Given the description of an element on the screen output the (x, y) to click on. 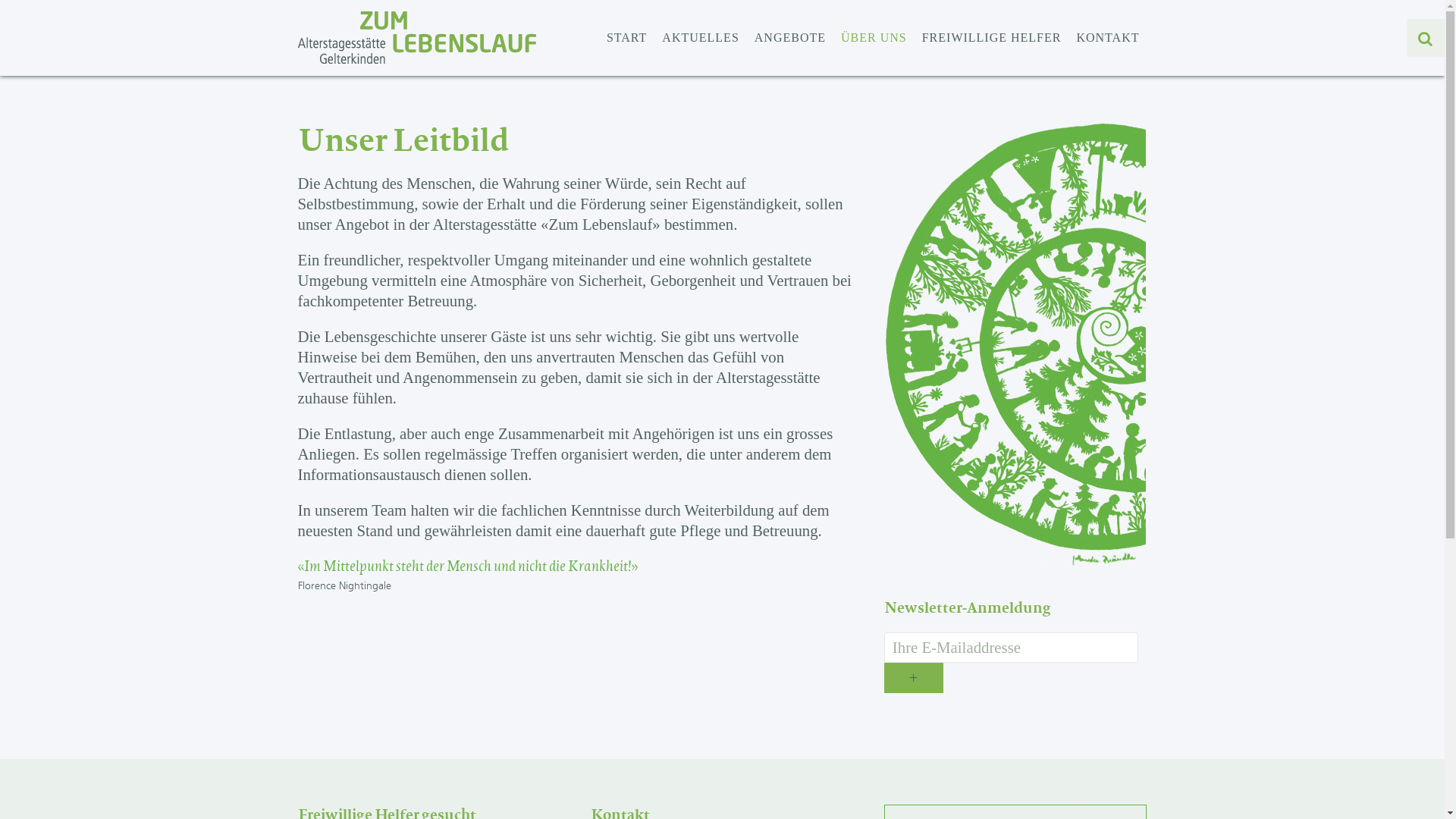
AKTUELLES Element type: text (700, 37)
FREIWILLIGE HELFER Element type: text (991, 37)
KONTAKT Element type: text (1107, 37)
START Element type: text (626, 37)
+ Element type: text (913, 677)
ANGEBOTE Element type: text (789, 37)
